Given the description of an element on the screen output the (x, y) to click on. 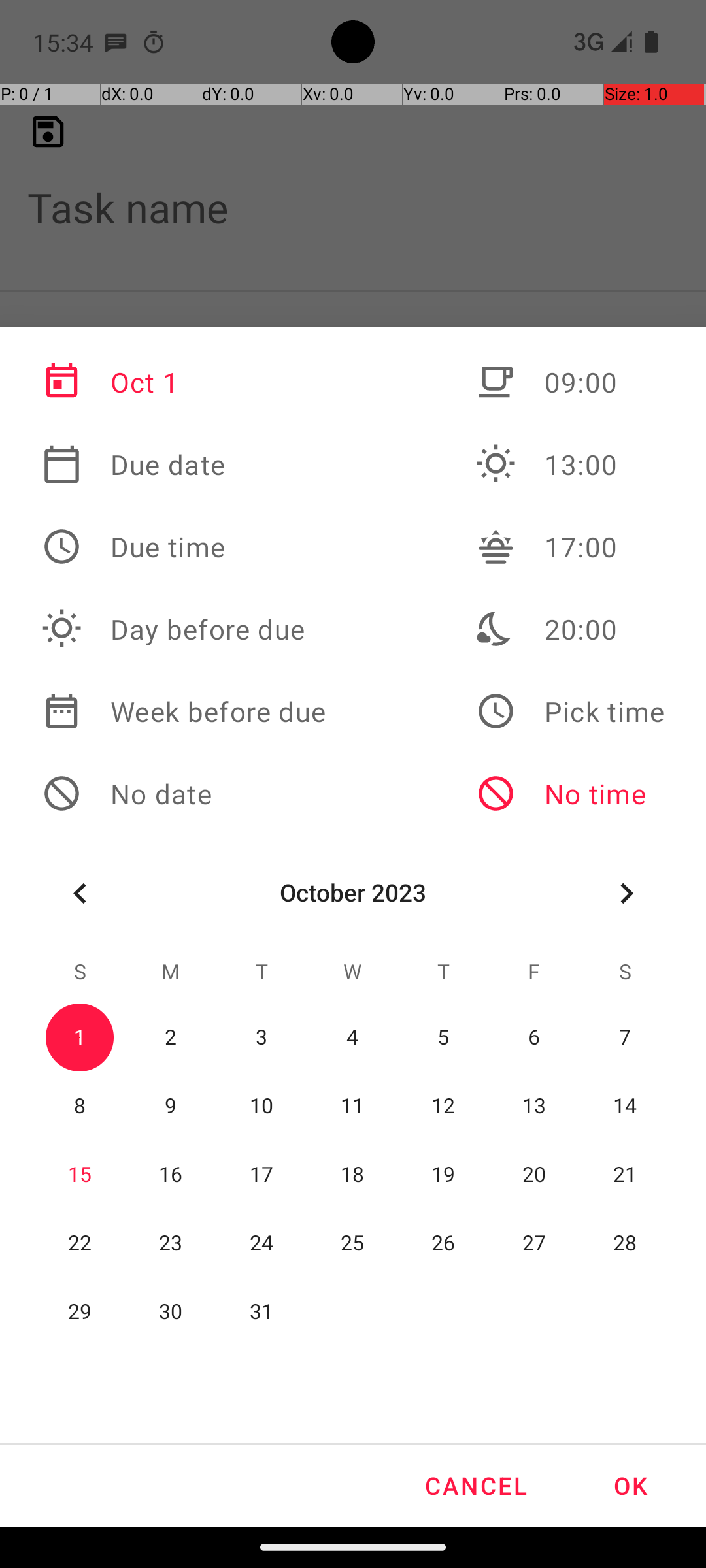
Oct 1 Element type: android.widget.CompoundButton (183, 382)
